Given the description of an element on the screen output the (x, y) to click on. 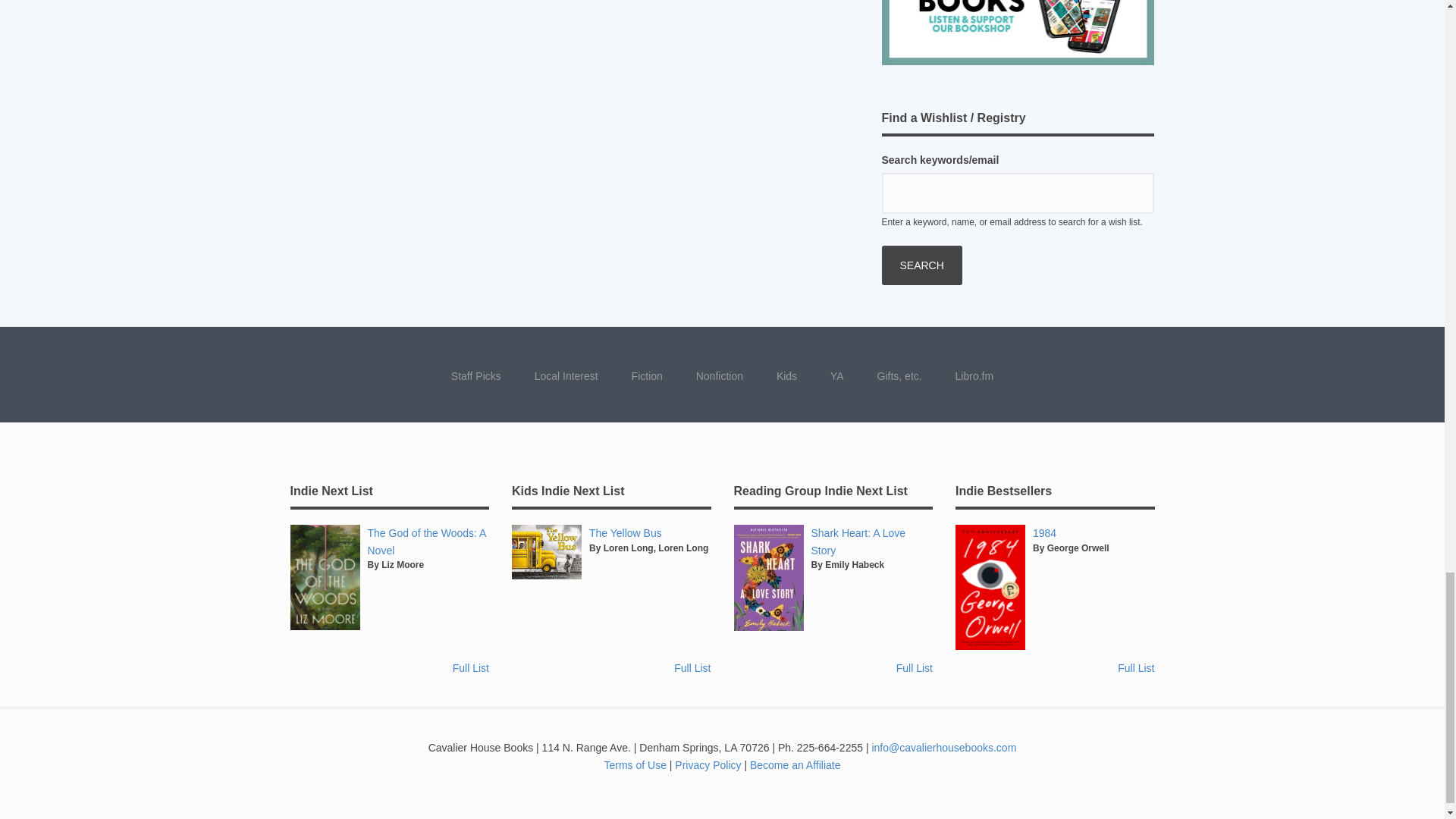
Search (920, 265)
